Given the description of an element on the screen output the (x, y) to click on. 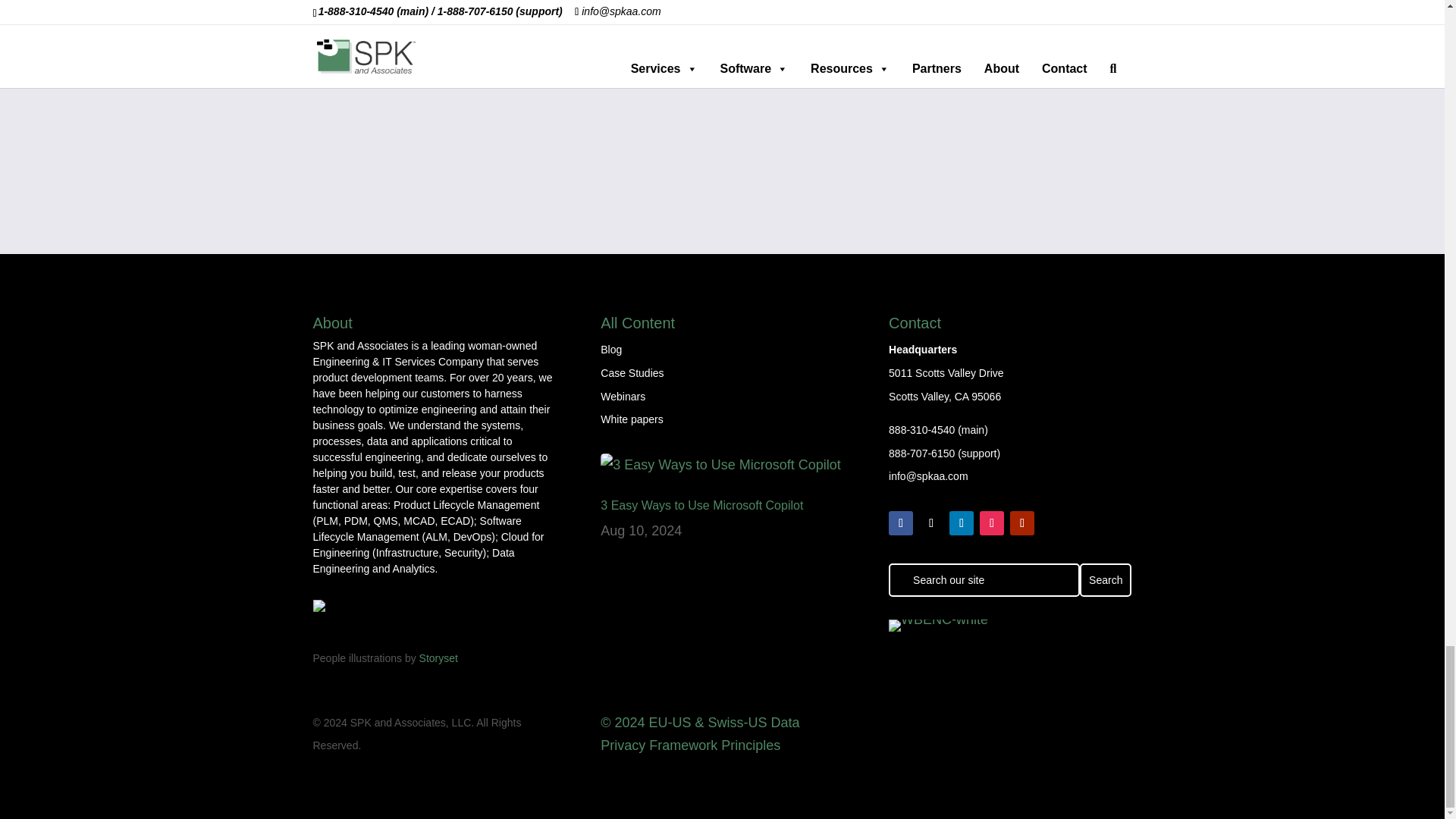
Follow on Facebook (900, 523)
WBENC-white (938, 625)
Search (1105, 580)
Search (1105, 580)
Follow on Youtube (1021, 523)
Follow on LinkedIn (961, 523)
Follow on Instagram (991, 523)
SPK logo PNG white (397, 605)
Follow on X (930, 523)
